Given the description of an element on the screen output the (x, y) to click on. 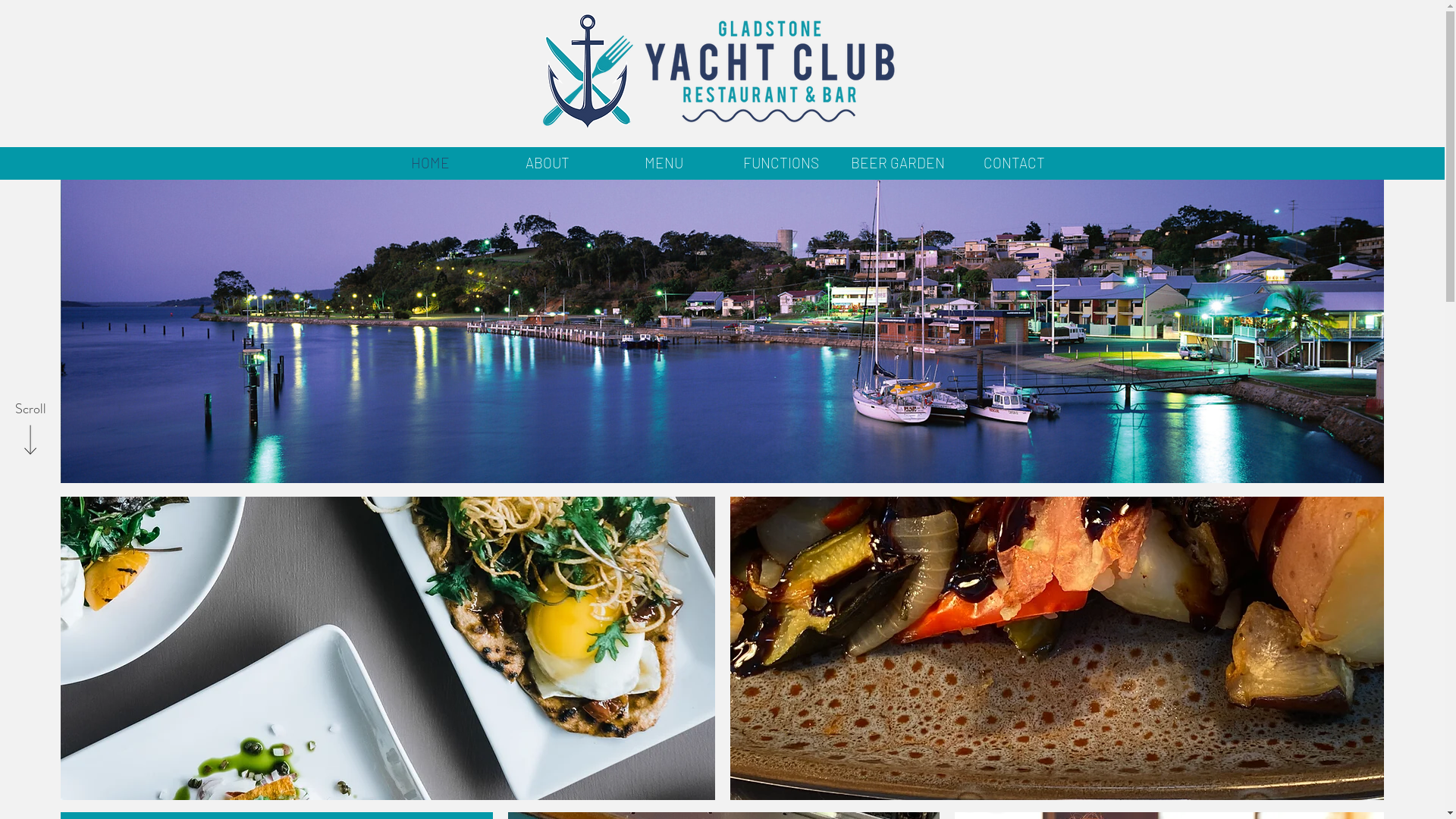
HOME Element type: text (429, 162)
Scroll Element type: text (30, 409)
FUNCTIONS Element type: text (779, 162)
ABOUT Element type: text (546, 162)
MENU Element type: text (663, 162)
BEER GARDEN Element type: text (896, 162)
CONTACT Element type: text (1013, 162)
